Given the description of an element on the screen output the (x, y) to click on. 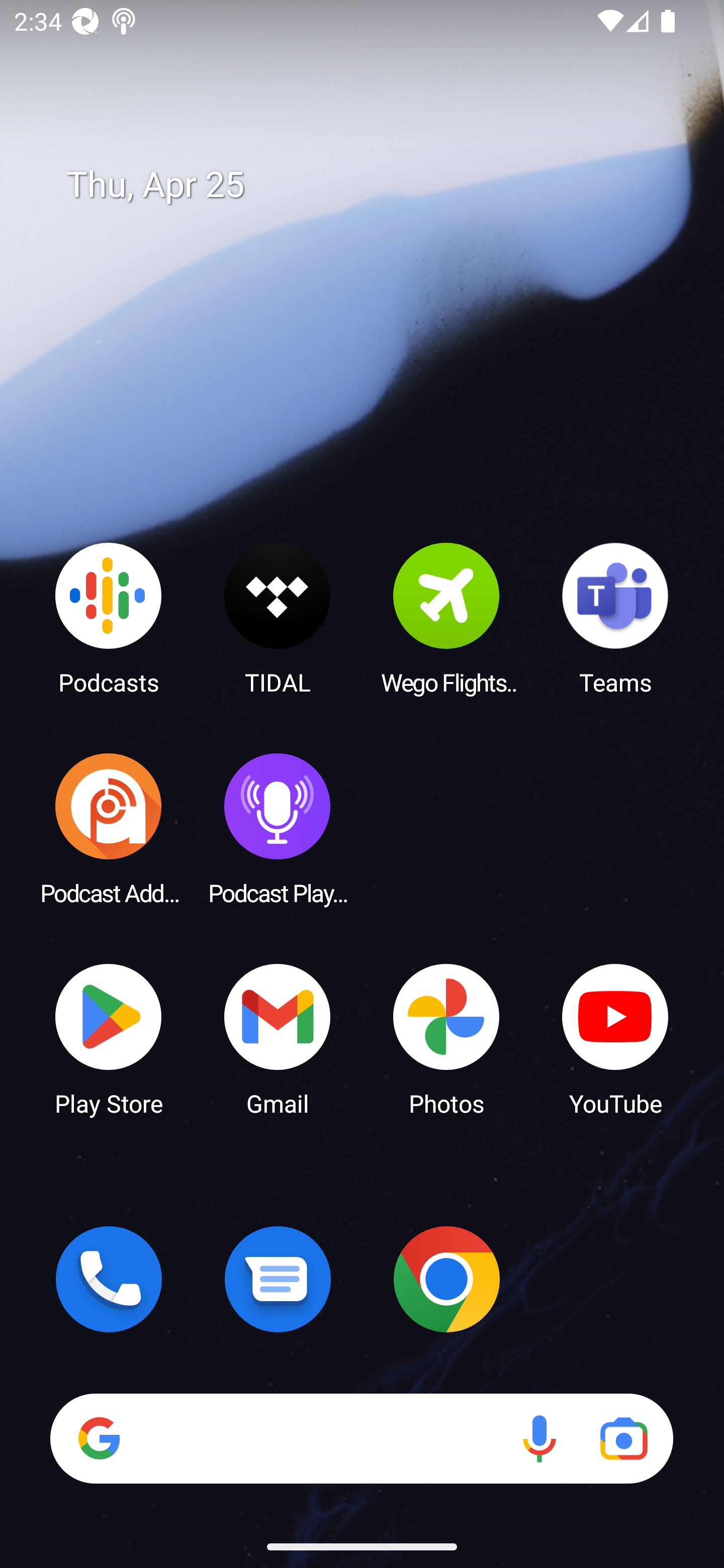
Thu, Apr 25 (375, 184)
Podcasts (108, 617)
TIDAL (277, 617)
Wego Flights & Hotels (445, 617)
Teams (615, 617)
Podcast Addict (108, 828)
Podcast Player (277, 828)
Play Store (108, 1038)
Gmail (277, 1038)
Photos (445, 1038)
YouTube (615, 1038)
Phone (108, 1279)
Messages (277, 1279)
Chrome (446, 1279)
Search Voice search Google Lens (361, 1438)
Voice search (539, 1438)
Google Lens (623, 1438)
